Given the description of an element on the screen output the (x, y) to click on. 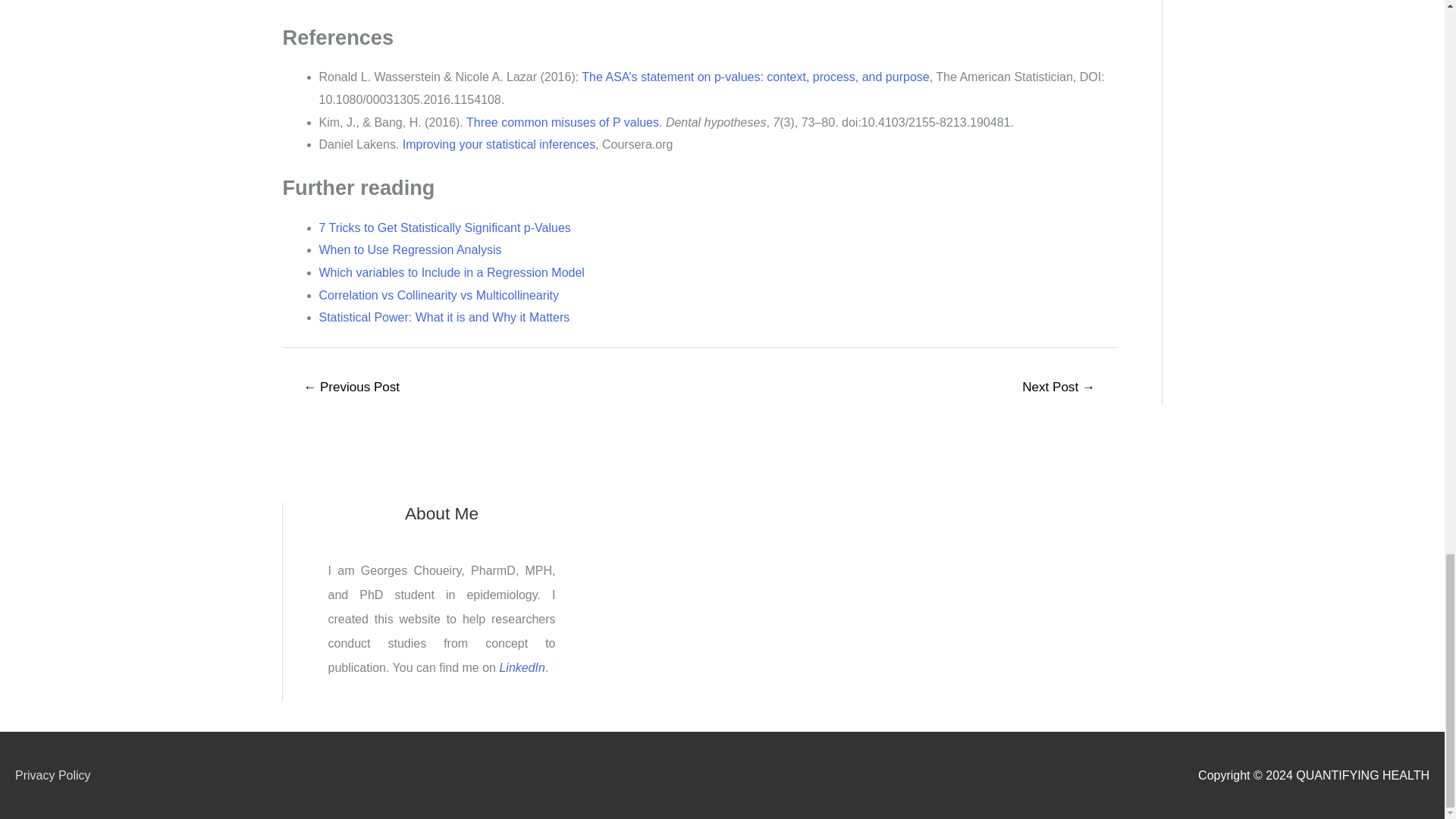
LinkedIn (521, 667)
Which variables to Include in a Regression Model (450, 272)
Statistical Power: What it is and Why it Matters (443, 317)
Three common misuses of P values (562, 122)
7 Tricks to Get Statistically Significant p-Values (444, 227)
Correlation vs Collinearity vs Multicollinearity (438, 295)
Improving your statistical inferences (499, 144)
When to Use Regression Analysis (409, 249)
Privacy Policy (58, 775)
